Given the description of an element on the screen output the (x, y) to click on. 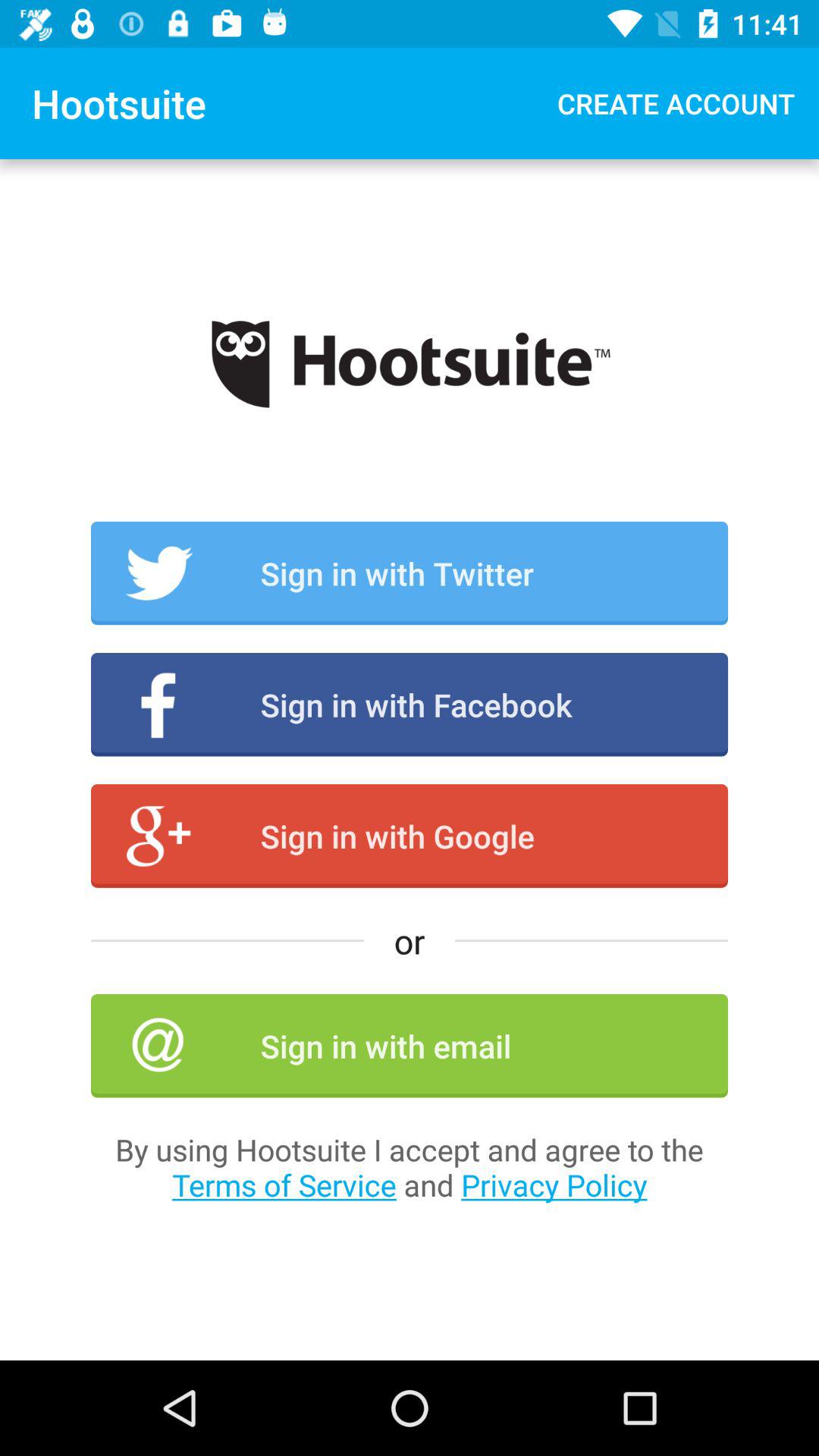
press the app next to the hootsuite item (676, 103)
